Given the description of an element on the screen output the (x, y) to click on. 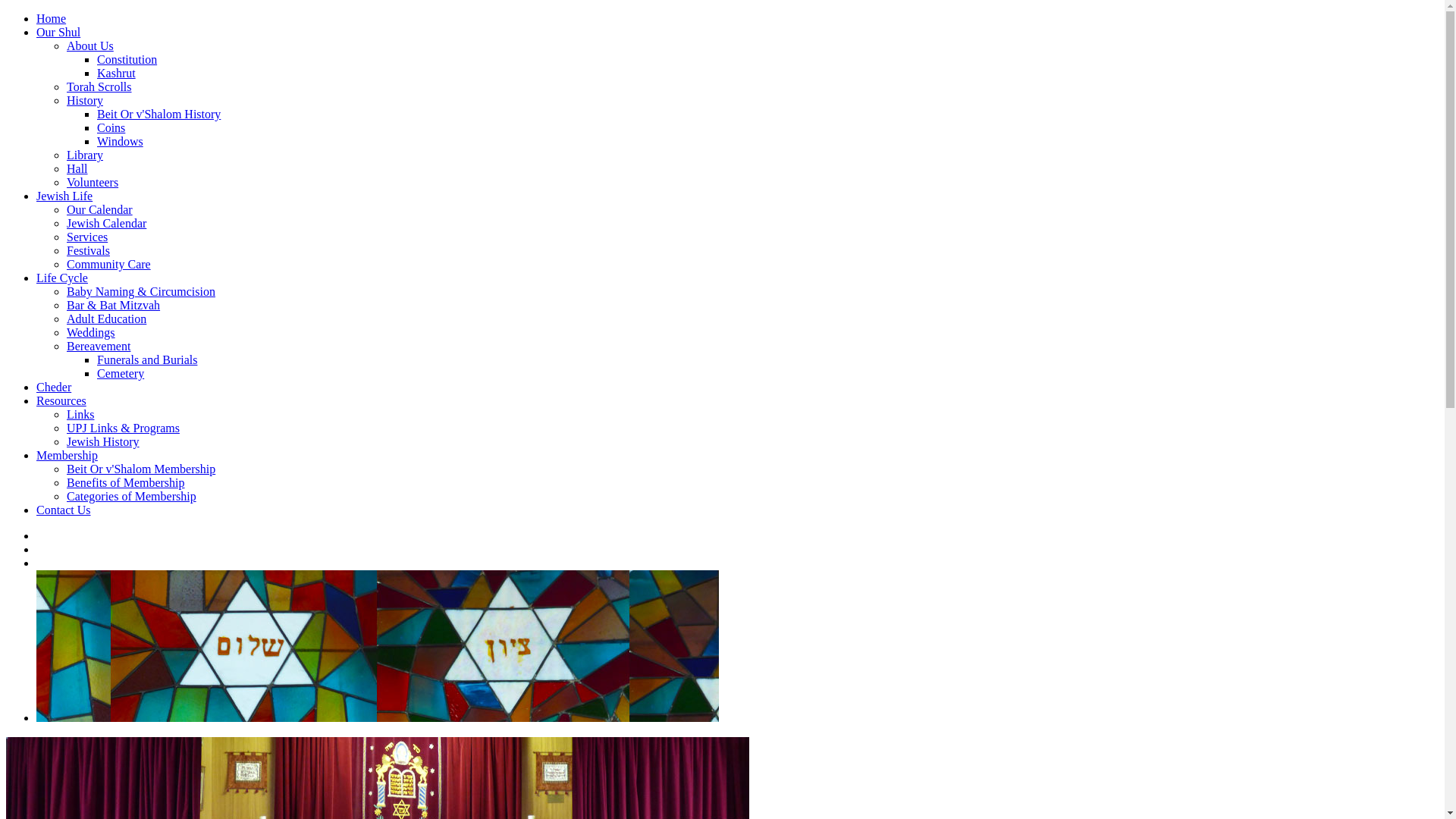
History Element type: text (84, 100)
Resources Element type: text (61, 400)
Membership Element type: text (66, 454)
Beit Or v'Shalom Membership Element type: text (140, 468)
Funerals and Burials Element type: text (147, 359)
Life Cycle Element type: text (61, 277)
Jewish History Element type: text (102, 441)
Services Element type: text (86, 236)
Jewish Life Element type: text (64, 195)
Bereavement Element type: text (98, 345)
Constitution Element type: text (126, 59)
UPJ Links & Programs Element type: text (122, 427)
Jewish Calendar Element type: text (106, 222)
Weddings Element type: text (90, 332)
Cemetery Element type: text (120, 373)
About Us Element type: text (89, 45)
Community Care Element type: text (108, 263)
Windows Element type: text (120, 140)
Volunteers Element type: text (92, 181)
Library Element type: text (84, 154)
Benefits of Membership Element type: text (125, 482)
Hall Element type: text (76, 168)
Bar & Bat Mitzvah Element type: text (113, 304)
Festivals Element type: text (87, 250)
Kashrut Element type: text (116, 72)
Coins Element type: text (111, 127)
Torah Scrolls Element type: text (98, 86)
Home Element type: text (50, 18)
Contact Us Element type: text (63, 509)
Adult Education Element type: text (106, 318)
Cheder Element type: text (53, 386)
Our Shul Element type: text (58, 31)
Links Element type: text (80, 413)
Baby Naming & Circumcision Element type: text (140, 291)
Our Calendar Element type: text (99, 209)
Beit Or v'Shalom History Element type: text (158, 113)
Categories of Membership Element type: text (131, 495)
